Given the description of an element on the screen output the (x, y) to click on. 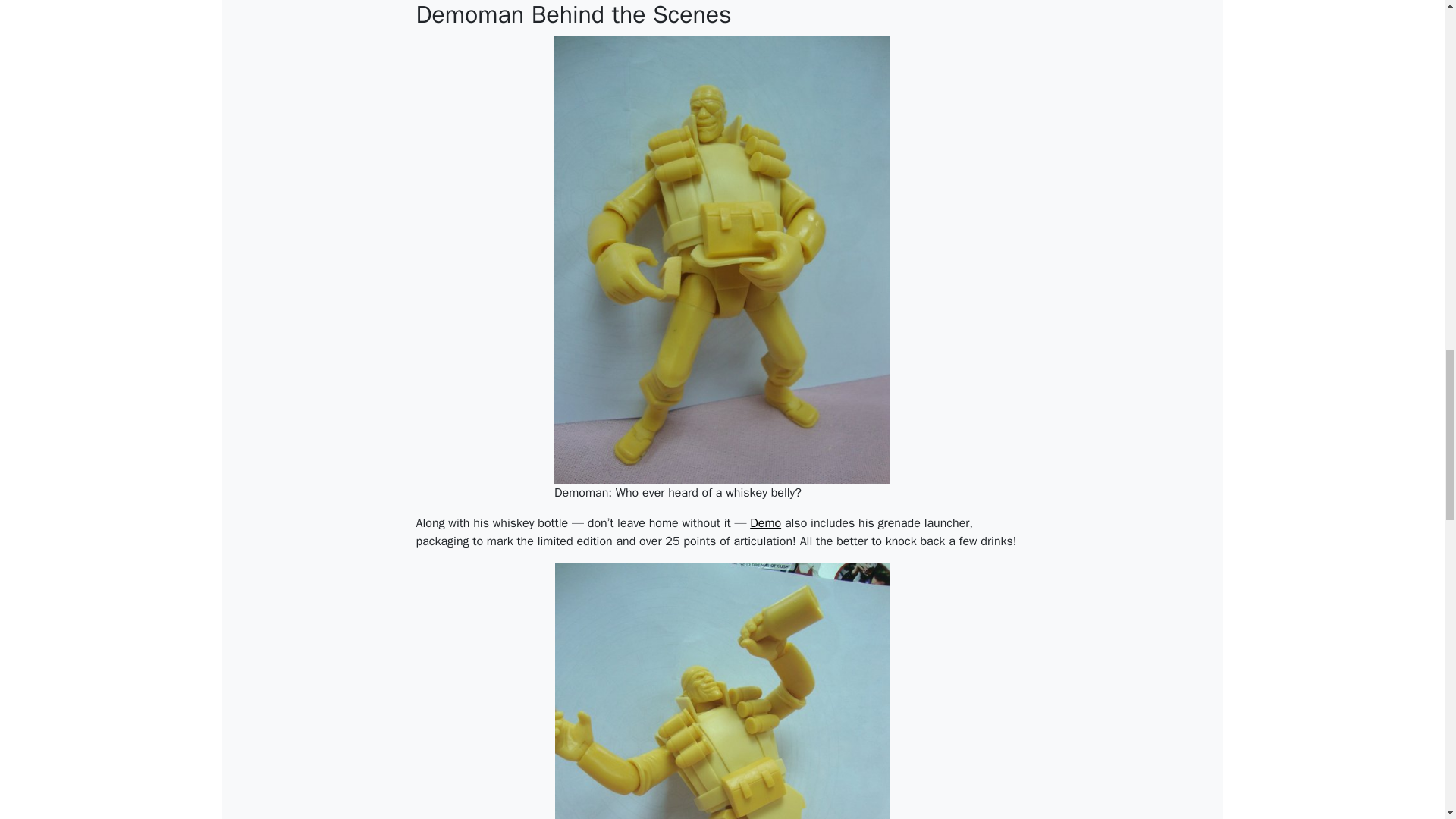
Demo (764, 522)
Demo (764, 522)
demo bts3 (721, 690)
